Given the description of an element on the screen output the (x, y) to click on. 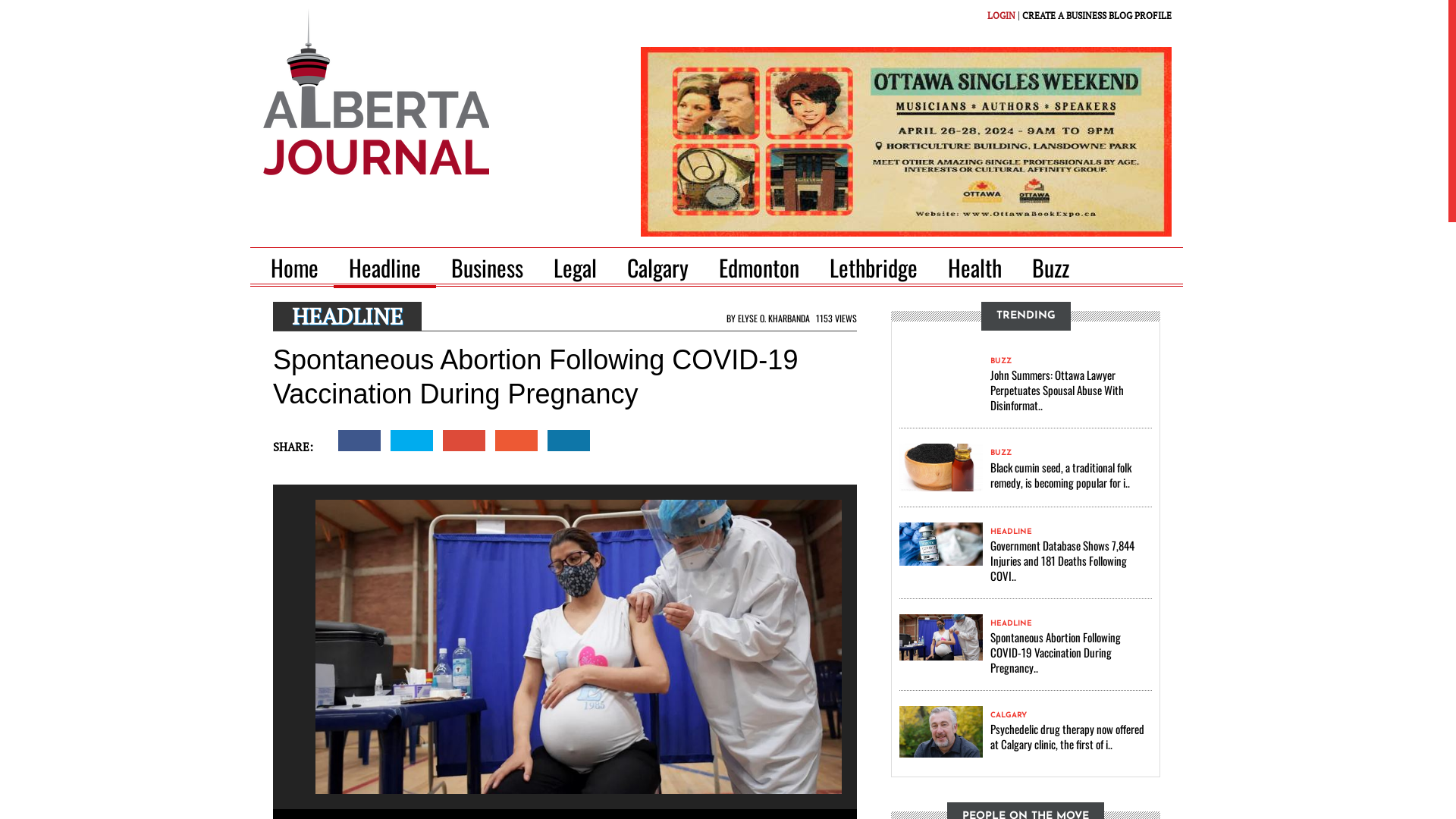
Business Element type: text (487, 267)
LOGIN Element type: text (1001, 15)
BY ELYSE O. KHARBANDA Element type: text (767, 317)
Calgary Element type: text (657, 267)
Headline Element type: text (384, 267)
Edmonton Element type: text (758, 267)
Legal Element type: text (574, 267)
1153 VIEWS Element type: text (834, 317)
Buzz Element type: text (1050, 267)
 Home Element type: text (299, 267)
CREATE A BUSINESS BLOG PROFILE Element type: text (1096, 15)
Lethbridge Element type: text (873, 267)
Health Element type: text (974, 267)
